Given the description of an element on the screen output the (x, y) to click on. 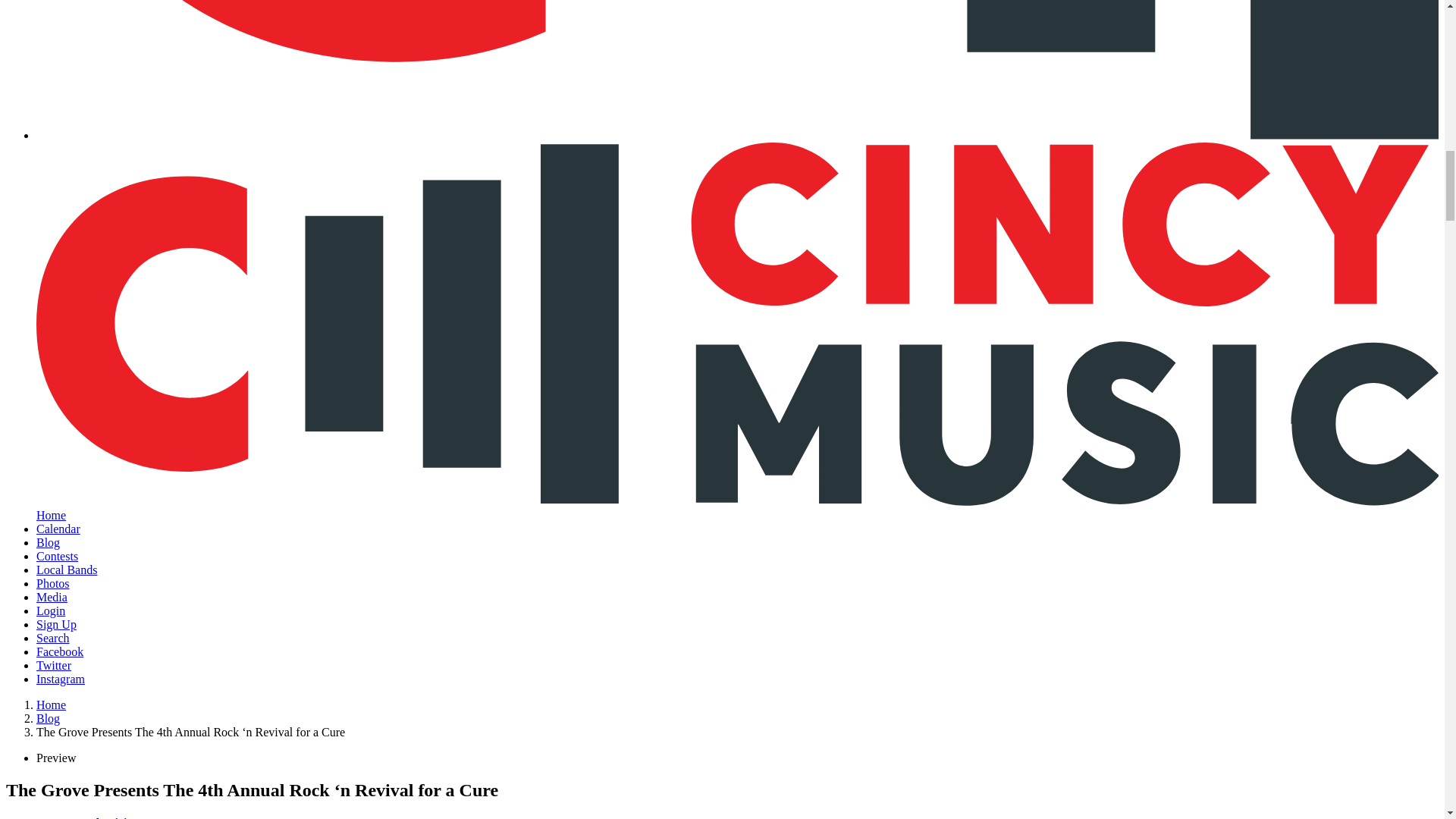
Local Bands (66, 569)
Facebook (59, 651)
Login (50, 610)
Courtney Phenicie  (85, 817)
Instagram (60, 678)
Contests (57, 555)
Media (51, 596)
Sign Up (56, 624)
Twitter (53, 665)
Blog (47, 717)
Blog (47, 542)
Search (52, 637)
Calendar (58, 528)
Home (50, 704)
Photos (52, 583)
